Given the description of an element on the screen output the (x, y) to click on. 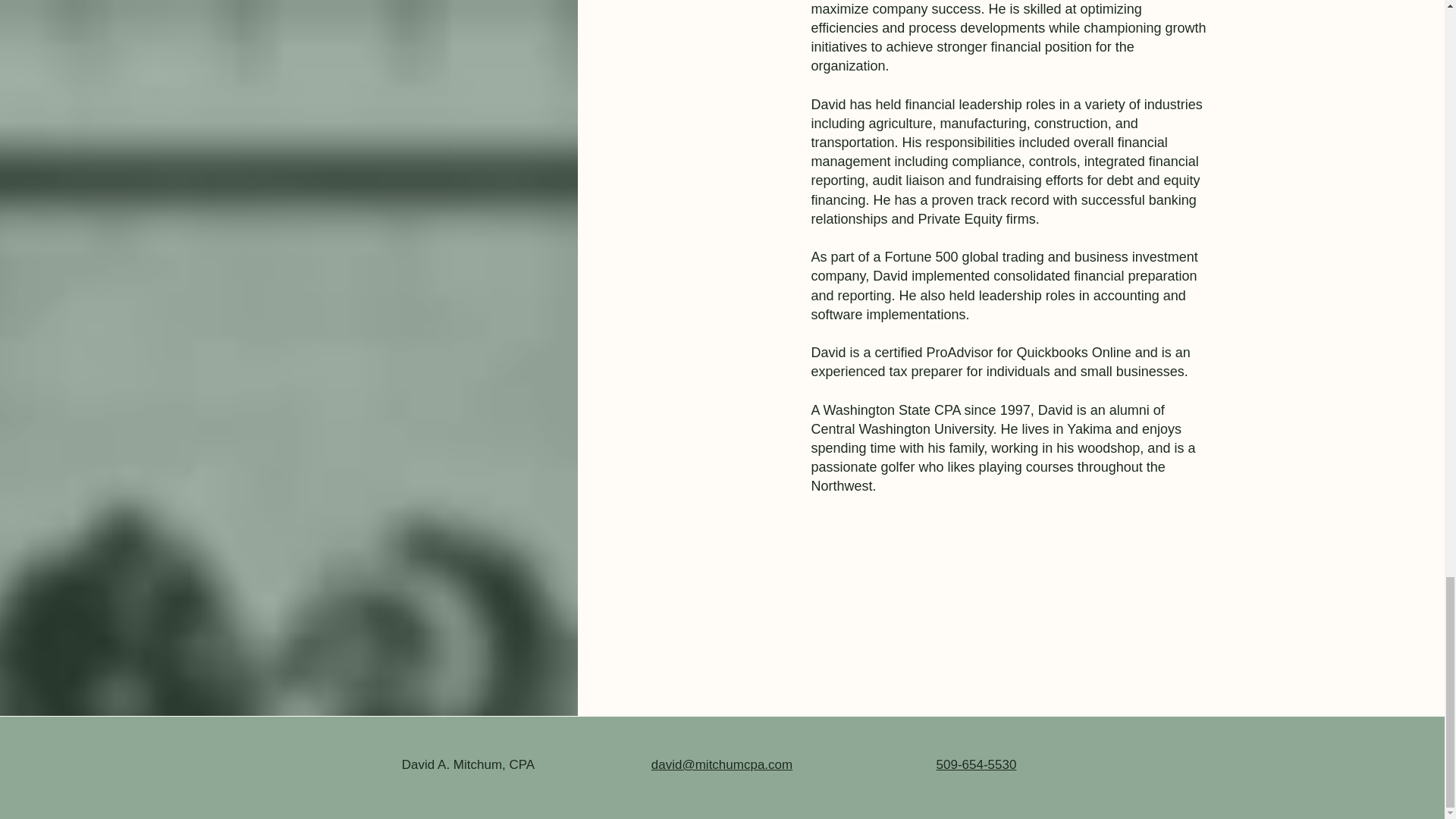
509-654-5530 (976, 764)
